Given the description of an element on the screen output the (x, y) to click on. 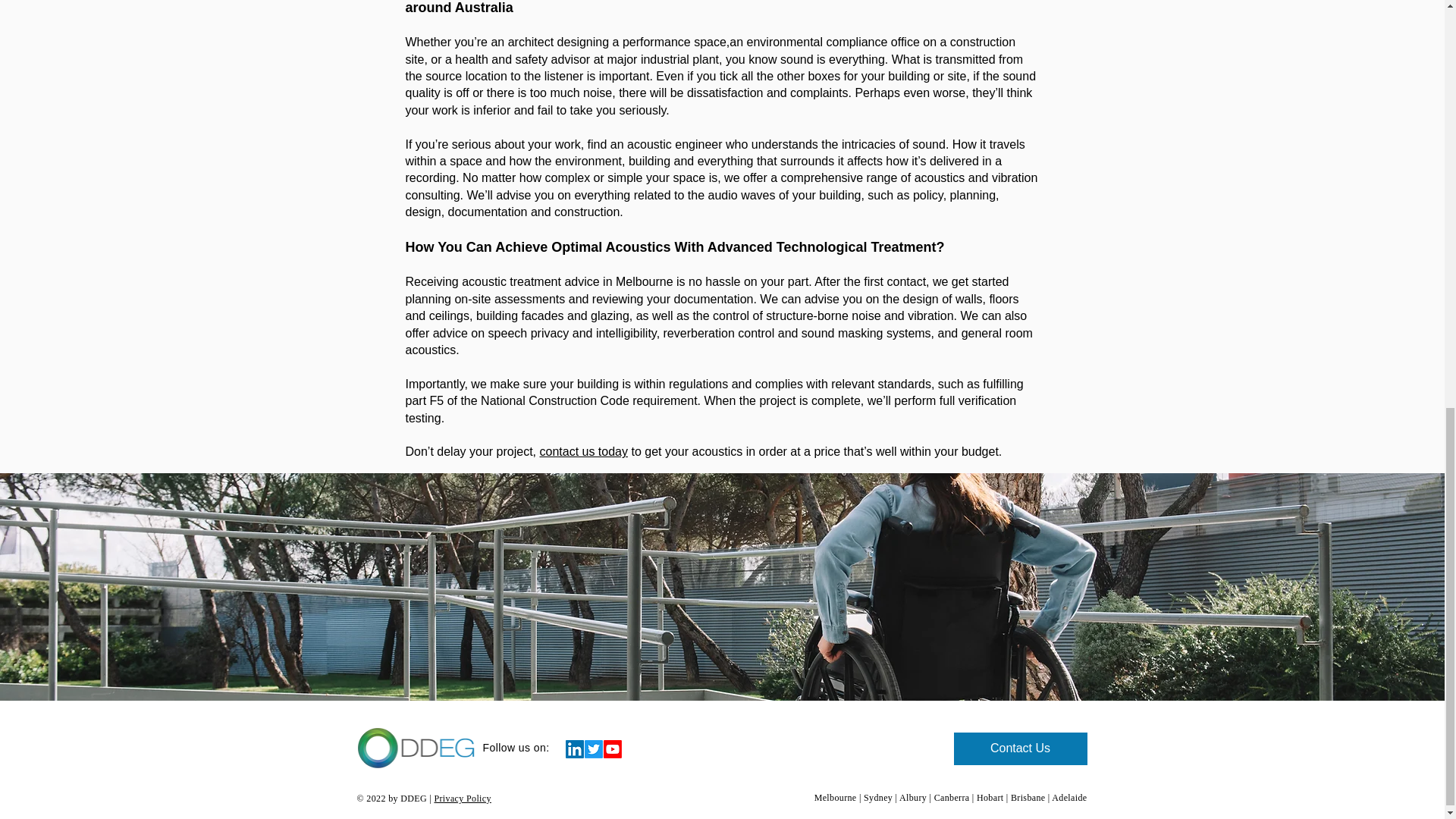
Privacy Policy (461, 798)
contact us today (582, 451)
Follow us on:  (516, 747)
Contact Us (1020, 748)
